Given the description of an element on the screen output the (x, y) to click on. 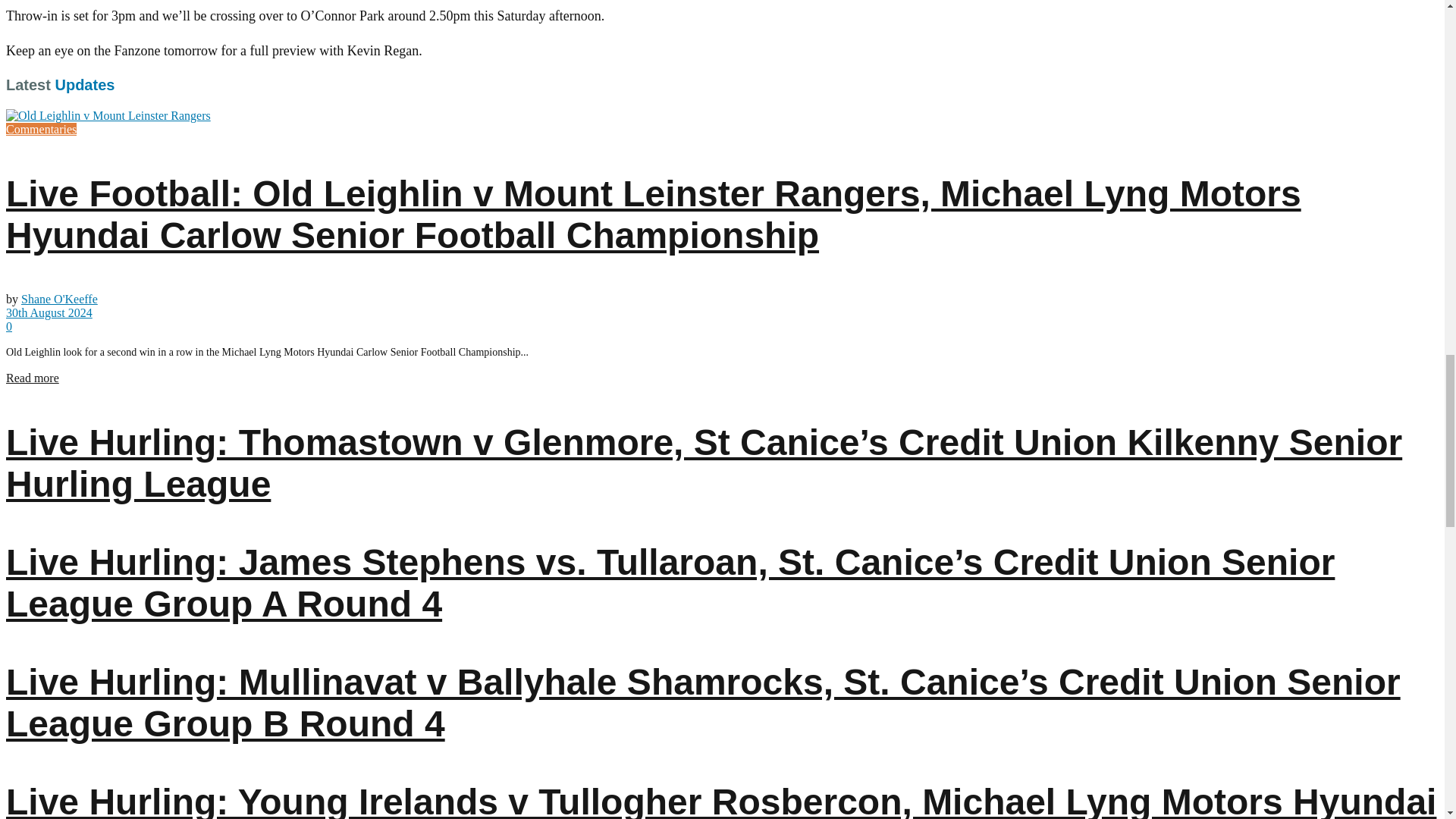
Commentaries (41, 128)
Read more (32, 377)
30th August 2024 (49, 312)
Shane O'Keeffe (59, 298)
